Given the description of an element on the screen output the (x, y) to click on. 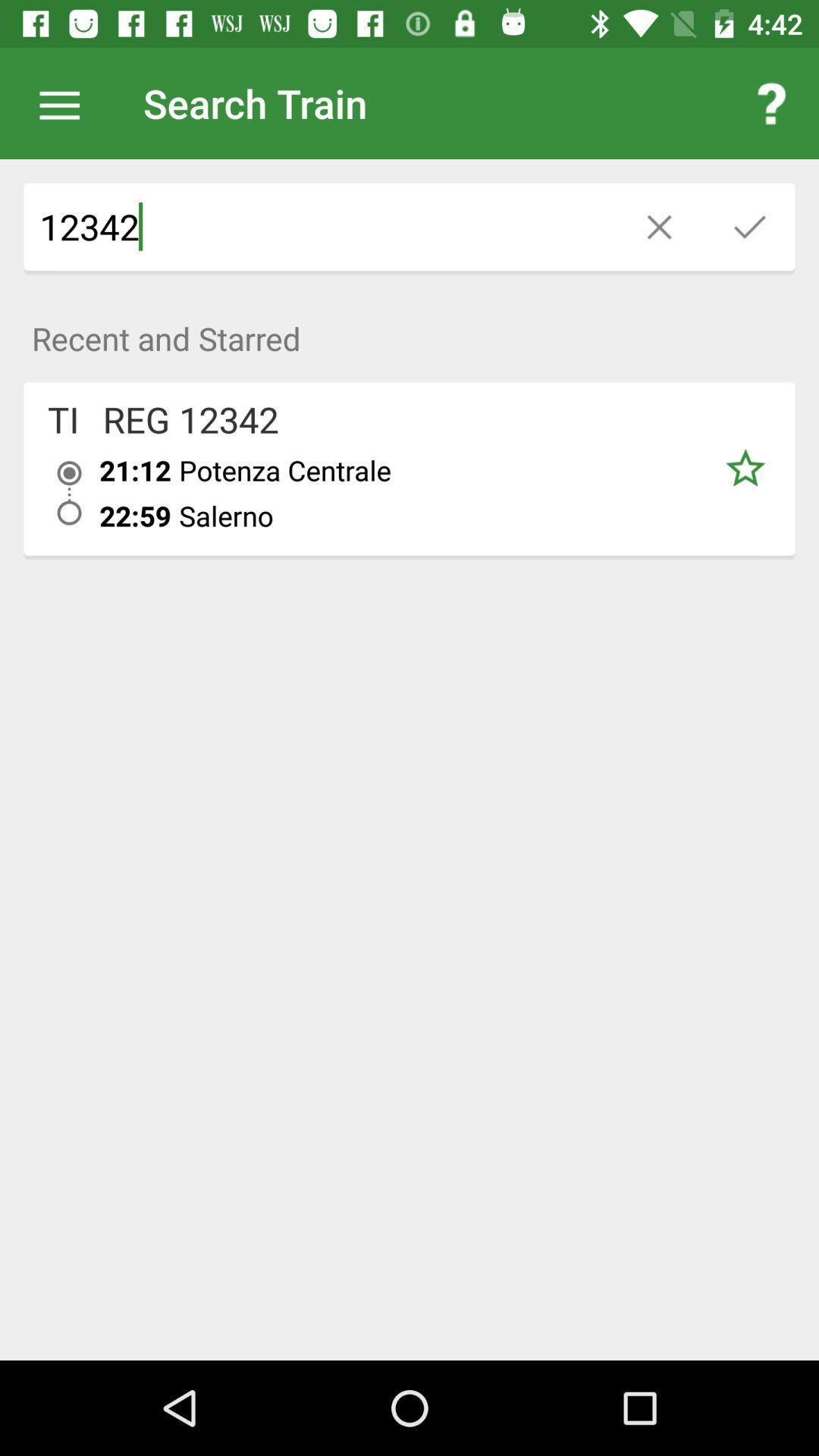
turn on item below recent and starred icon (745, 468)
